Given the description of an element on the screen output the (x, y) to click on. 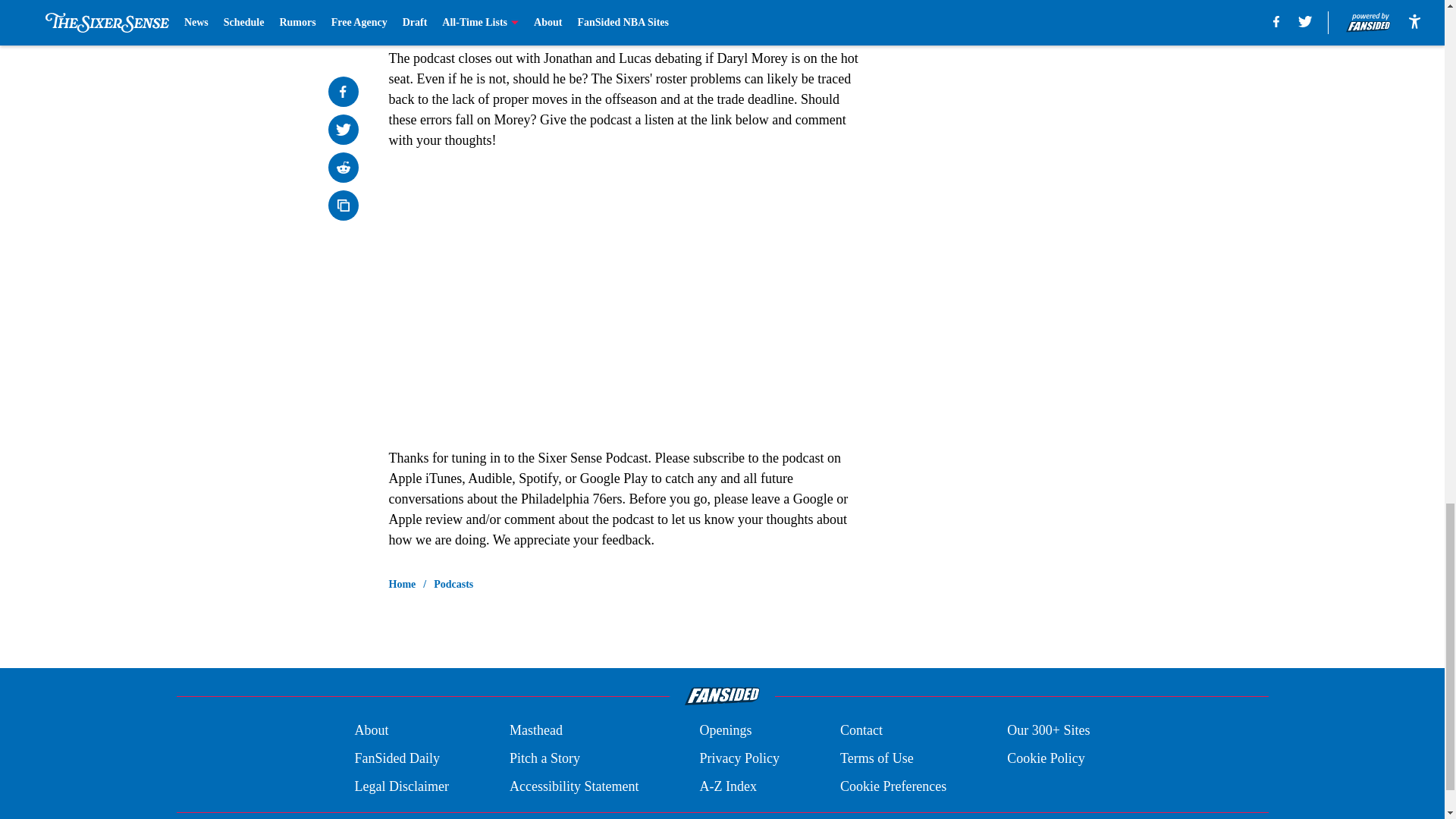
Accessibility Statement (574, 786)
Cookie Preferences (893, 786)
Podcasts (453, 584)
Contact (861, 730)
About (370, 730)
A-Z Index (726, 786)
Home (401, 584)
Terms of Use (877, 758)
Masthead (535, 730)
Legal Disclaimer (400, 786)
Cookie Policy (1045, 758)
Pitch a Story (544, 758)
Privacy Policy (738, 758)
Openings (724, 730)
FanSided Daily (396, 758)
